Given the description of an element on the screen output the (x, y) to click on. 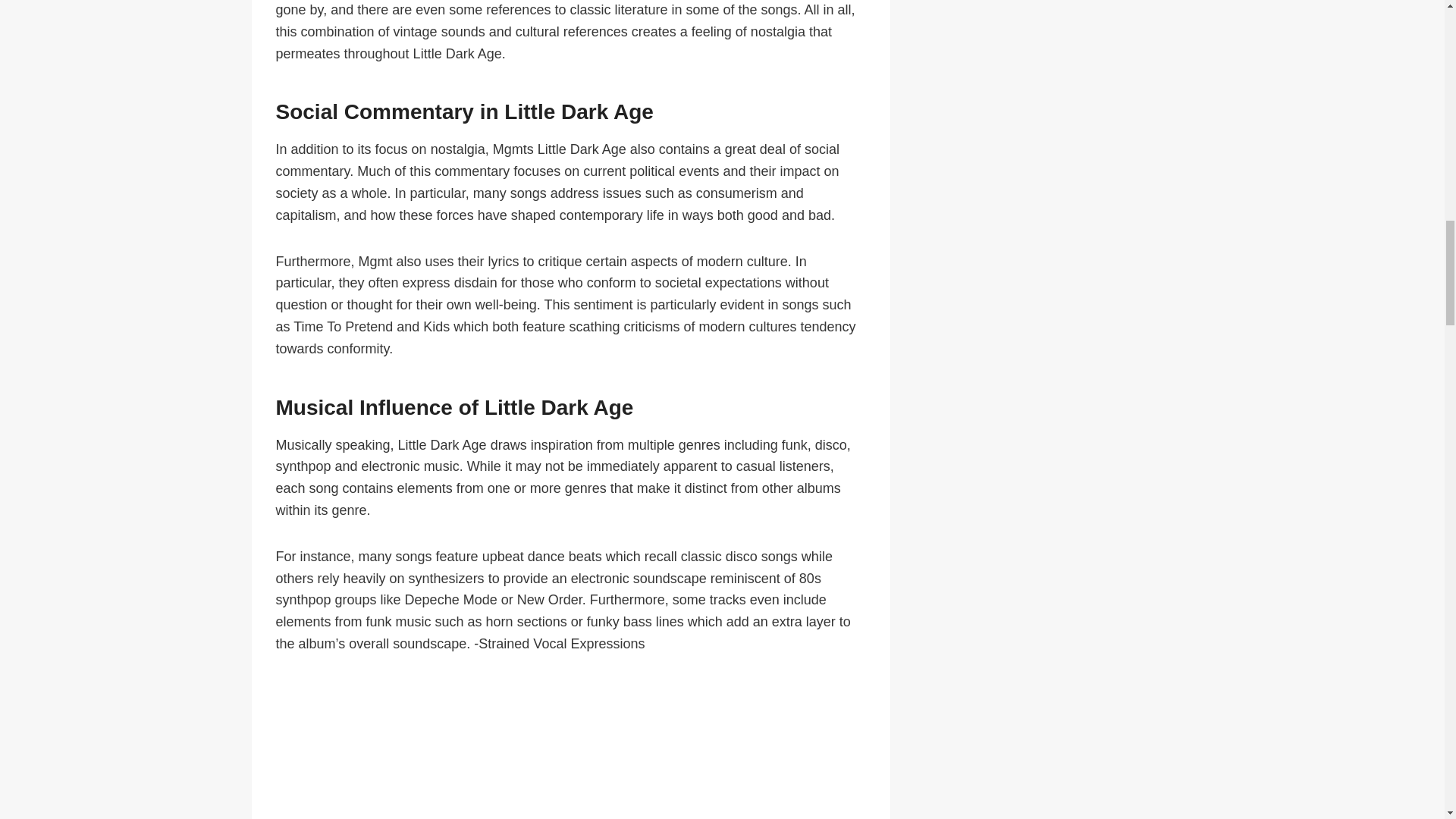
Advertisement (571, 749)
